Given the description of an element on the screen output the (x, y) to click on. 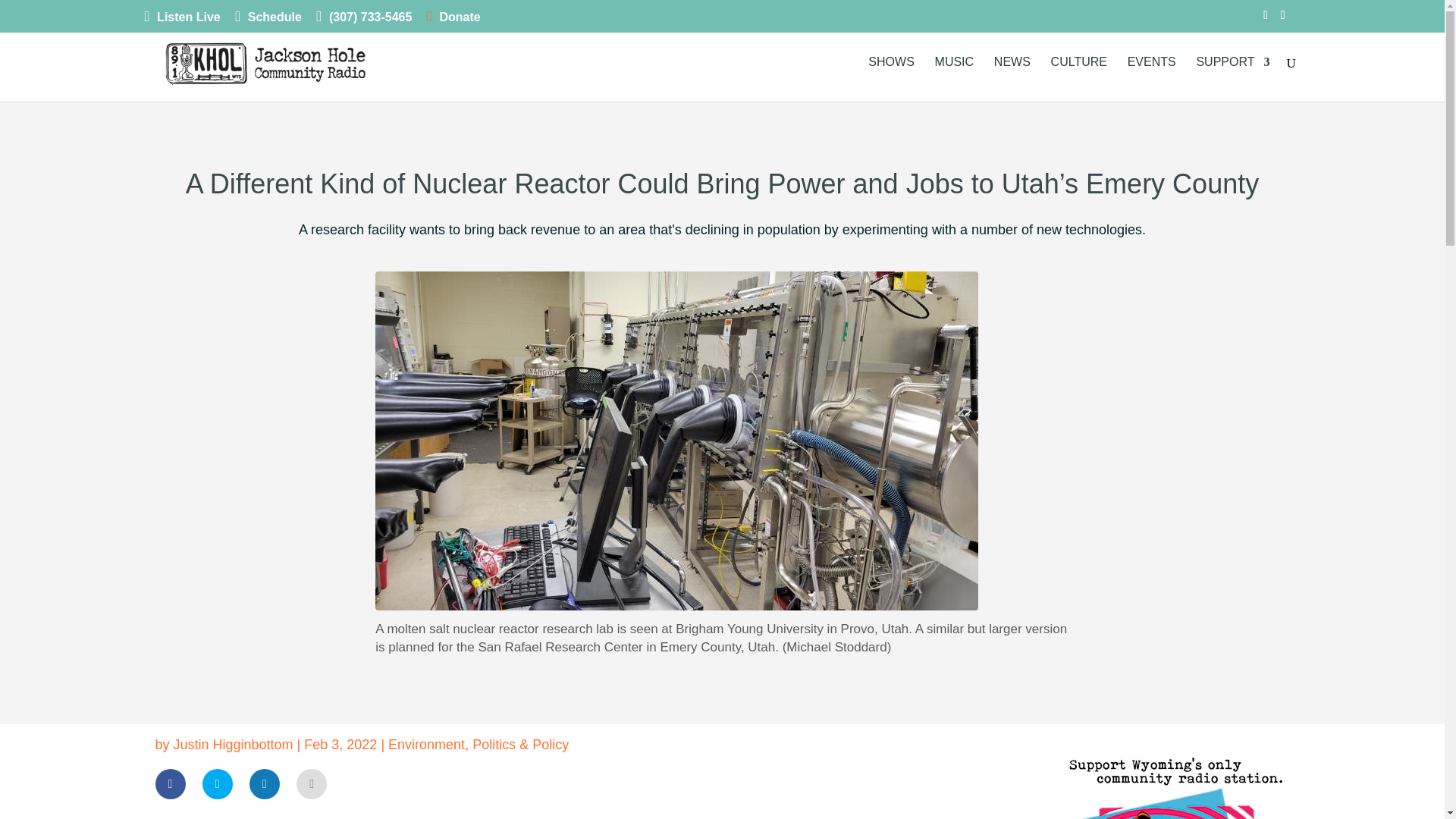
Listen Live (181, 20)
Justin Higginbottom (233, 744)
CULTURE (1078, 78)
SHOWS (890, 78)
Posts by Justin Higginbottom (233, 744)
Environment (426, 744)
SUPPORT (1232, 78)
Schedule (267, 20)
KHOL-Jackson-Hole-Community-Radio-Membership-Support-Ad-1 (1174, 777)
Donate (453, 20)
EVENTS (1151, 78)
